Given the description of an element on the screen output the (x, y) to click on. 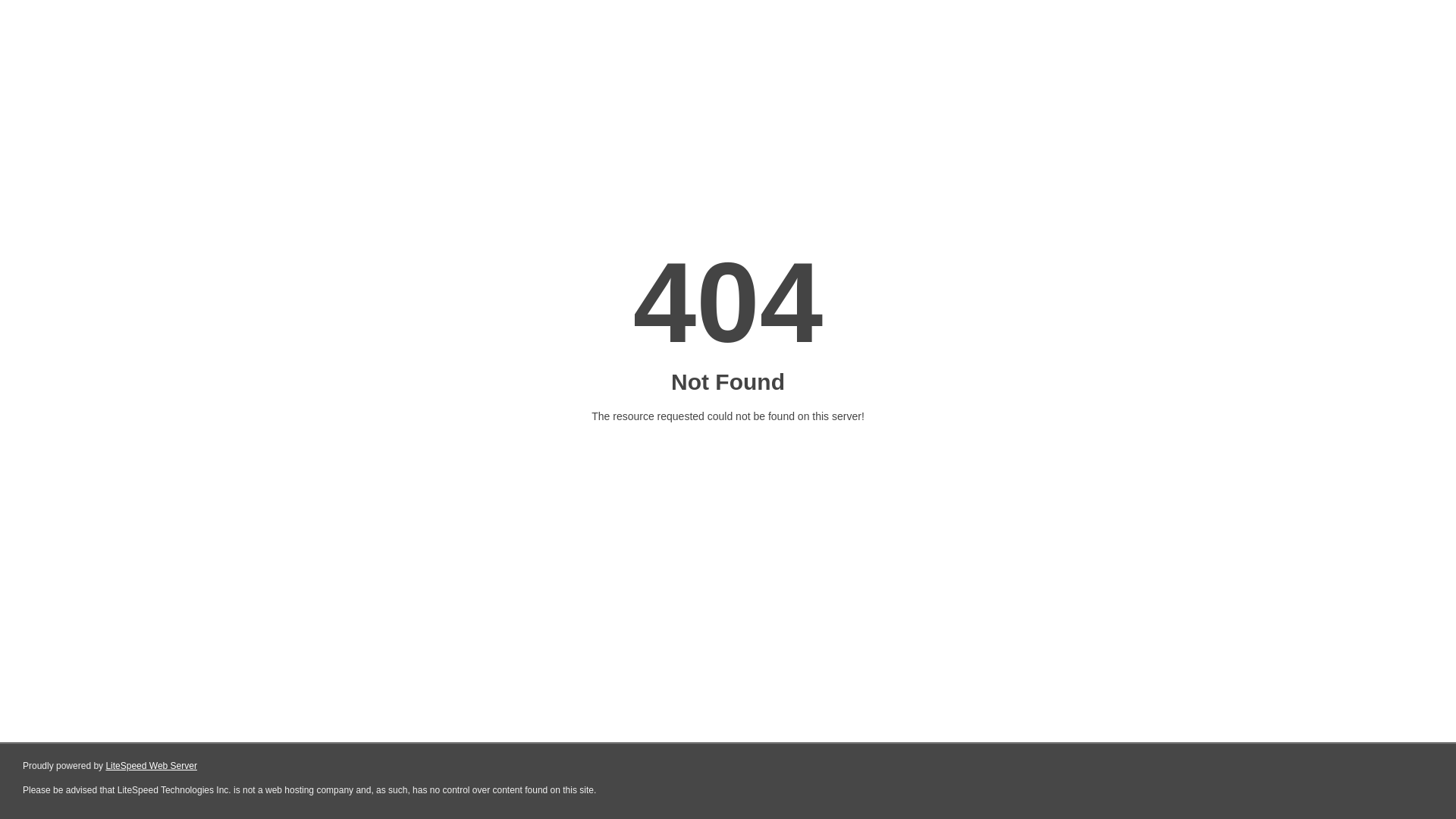
LiteSpeed Web Server Element type: text (151, 765)
